Given the description of an element on the screen output the (x, y) to click on. 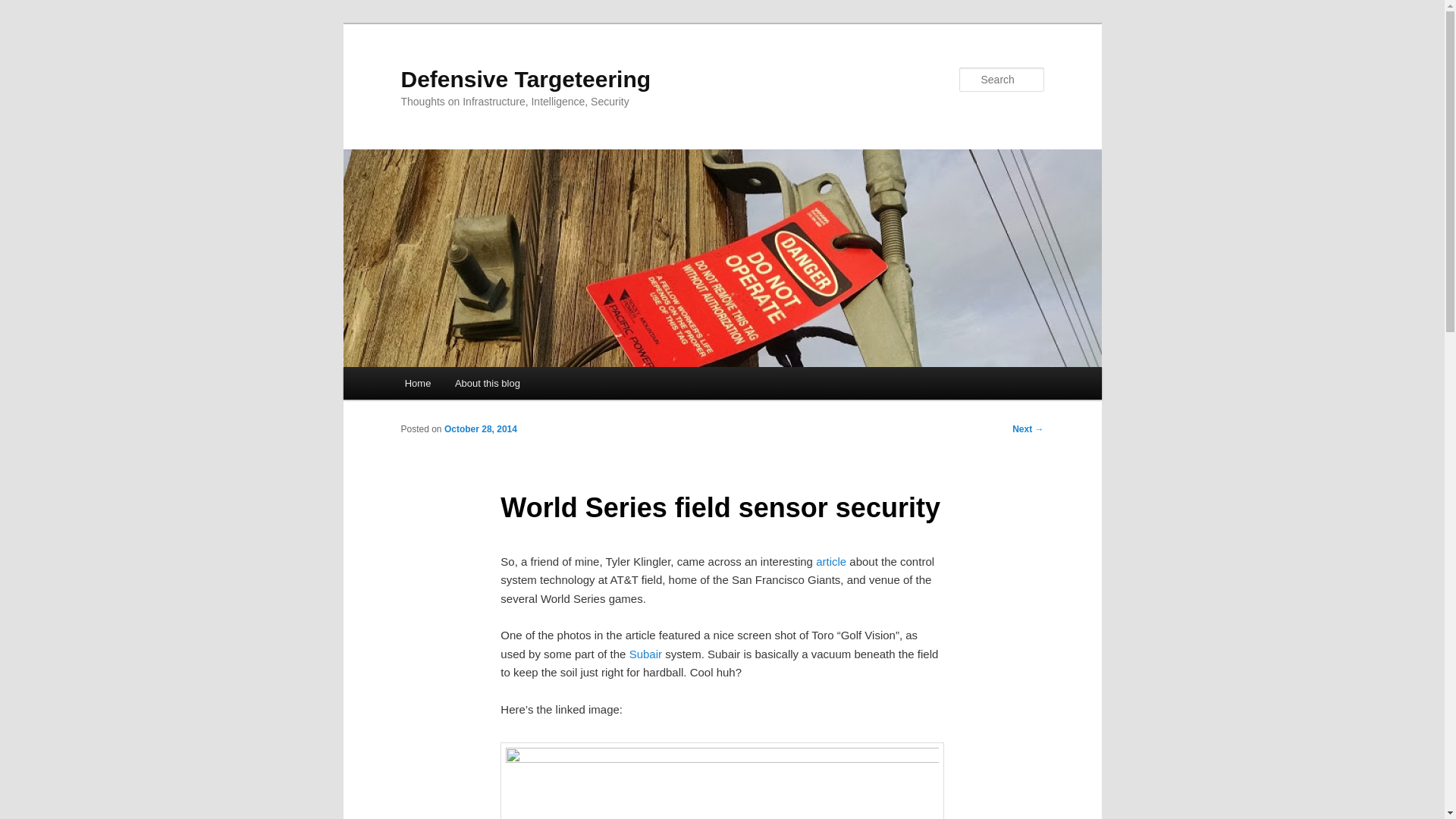
October 28, 2014 (480, 429)
Search (24, 8)
Defensive Targeteering (525, 78)
About this blog (487, 382)
Subair (645, 653)
Home (417, 382)
article (830, 561)
3:41 am (480, 429)
